Given the description of an element on the screen output the (x, y) to click on. 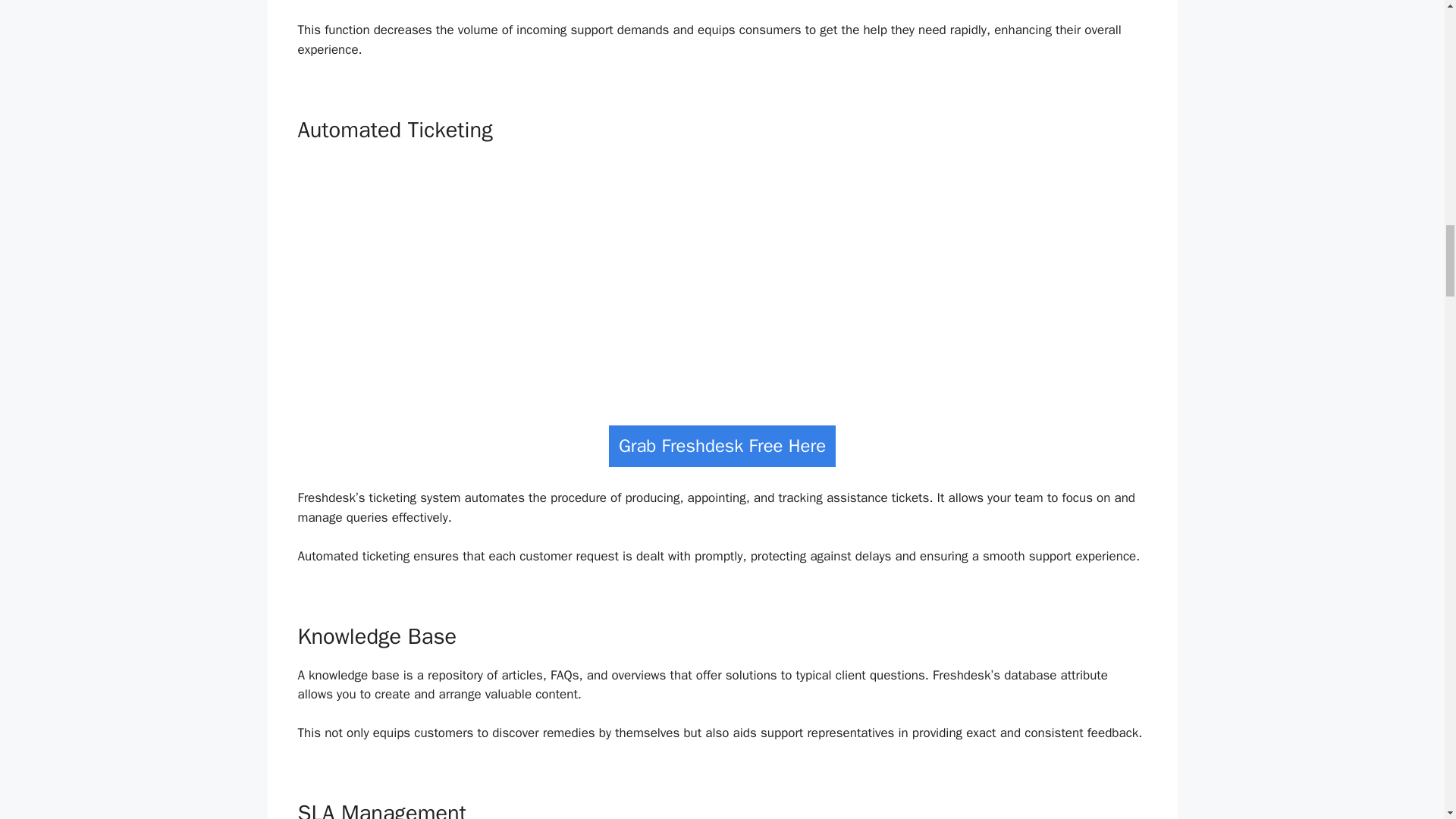
YouTube video player (721, 278)
Grab Freshdesk Free Here (721, 445)
